Given the description of an element on the screen output the (x, y) to click on. 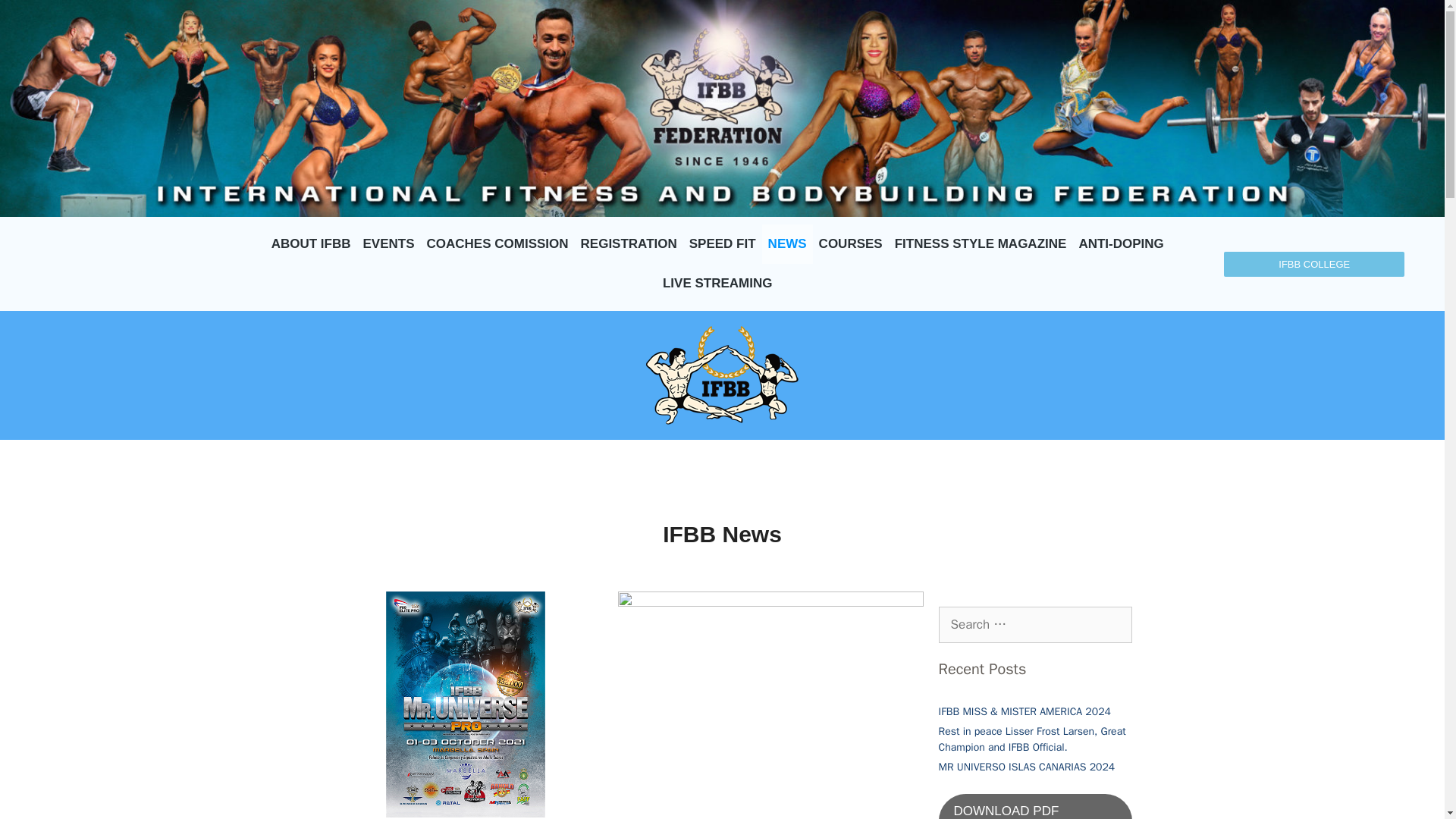
FITNESS STYLE MAGAZINE (980, 243)
EVENTS (388, 243)
ABOUT IFBB (310, 243)
REGISTRATION (628, 243)
Search for: (1035, 624)
NEWS (786, 243)
COURSES (850, 243)
SPEED FIT (721, 243)
COACHES COMISSION (497, 243)
